Given the description of an element on the screen output the (x, y) to click on. 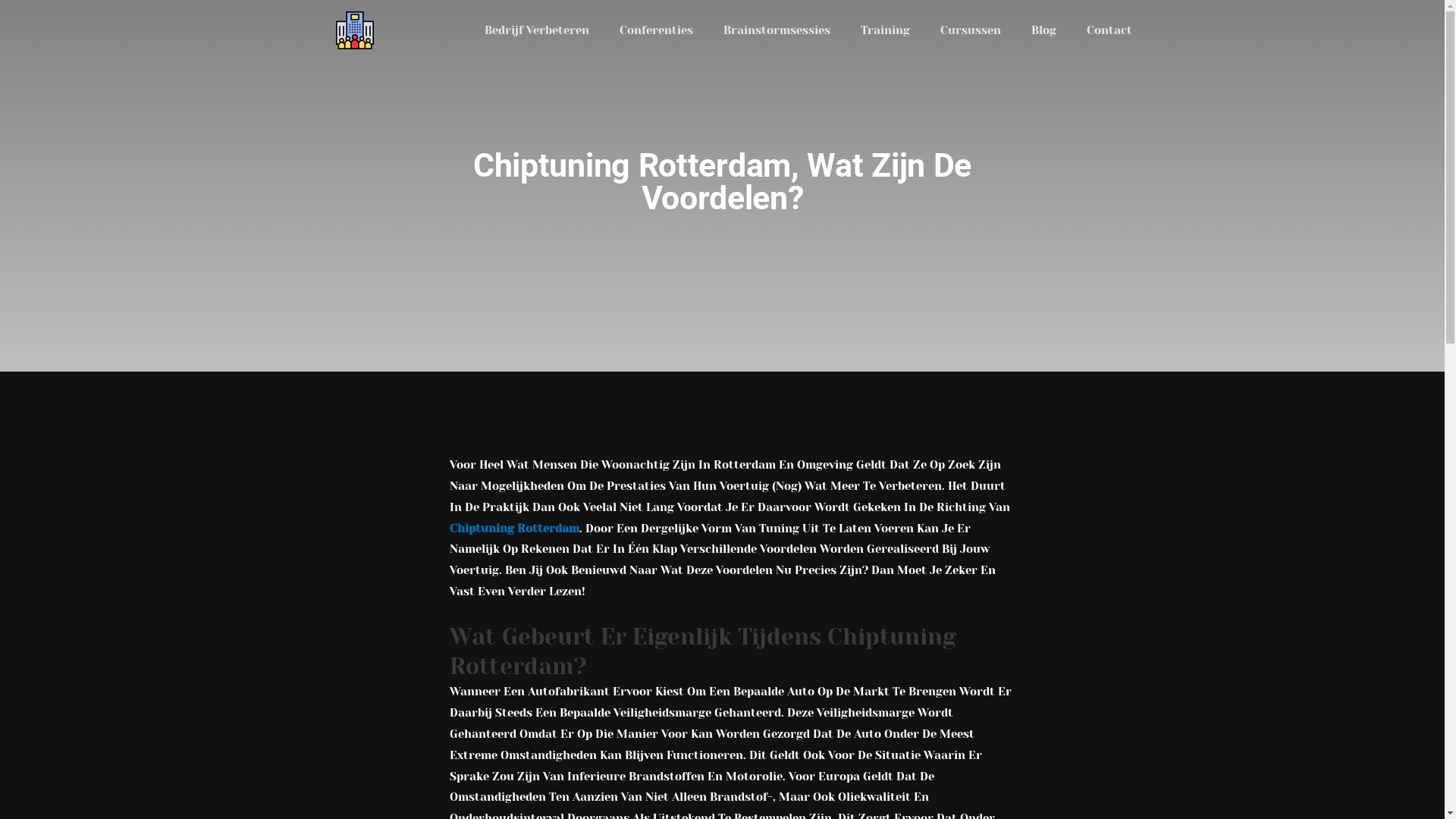
Chiptuning Rotterdam Element type: text (513, 528)
Bedrijf Verbeteren Element type: text (535, 29)
Contact Element type: text (1108, 29)
enterprise Element type: hover (354, 30)
Cursussen Element type: text (970, 29)
Blog Element type: text (1043, 29)
Conferenties Element type: text (655, 29)
Brainstormsessies Element type: text (776, 29)
Training Element type: text (884, 29)
